Given the description of an element on the screen output the (x, y) to click on. 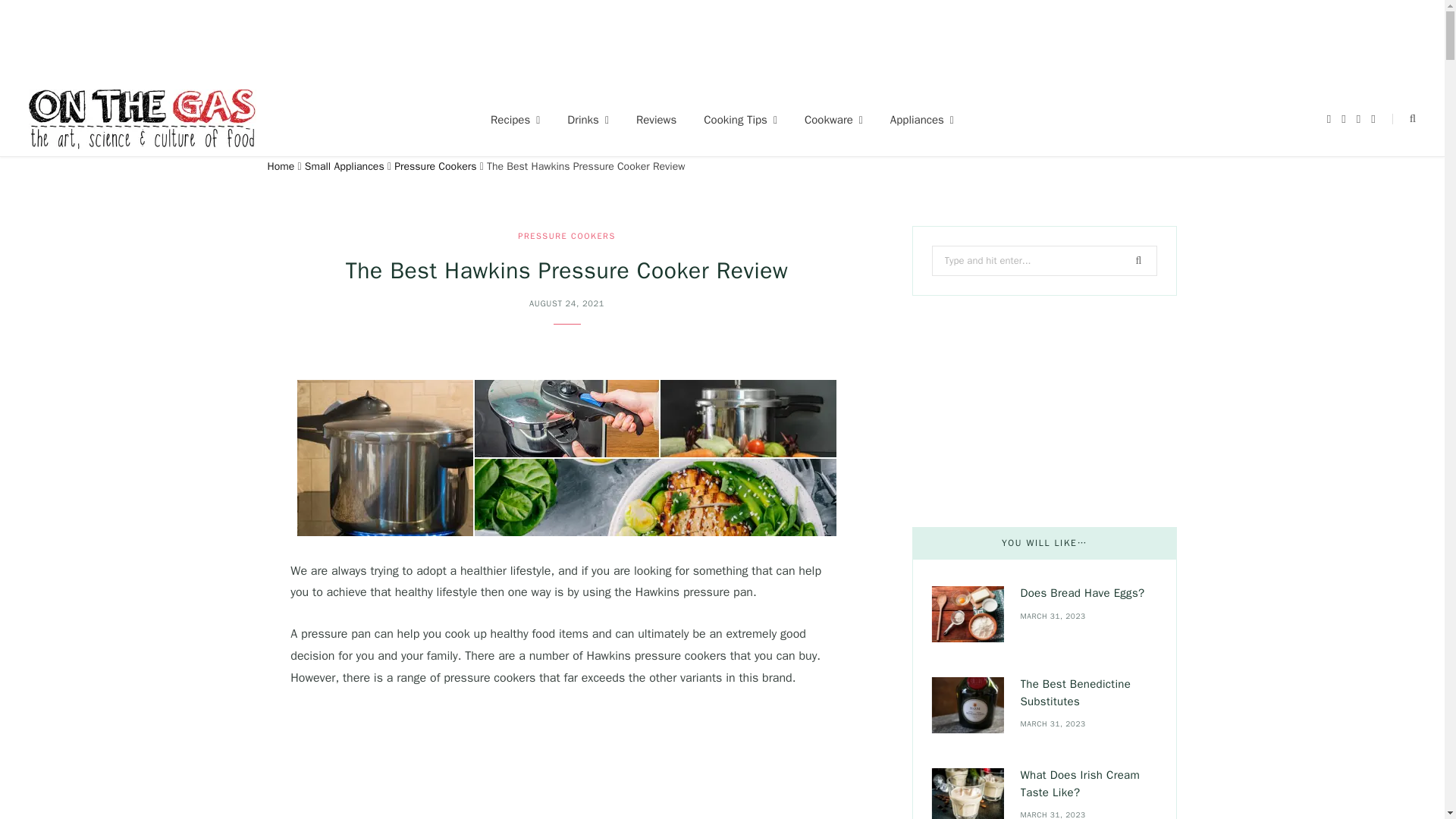
Appliances (922, 119)
Drinks (588, 119)
Home (280, 165)
AUGUST 24, 2021 (566, 303)
Reviews (656, 119)
Recipes (515, 119)
Cookware (833, 119)
Cooking Tips (740, 119)
Pressure Cookers (435, 165)
Small Appliances (344, 165)
